Given the description of an element on the screen output the (x, y) to click on. 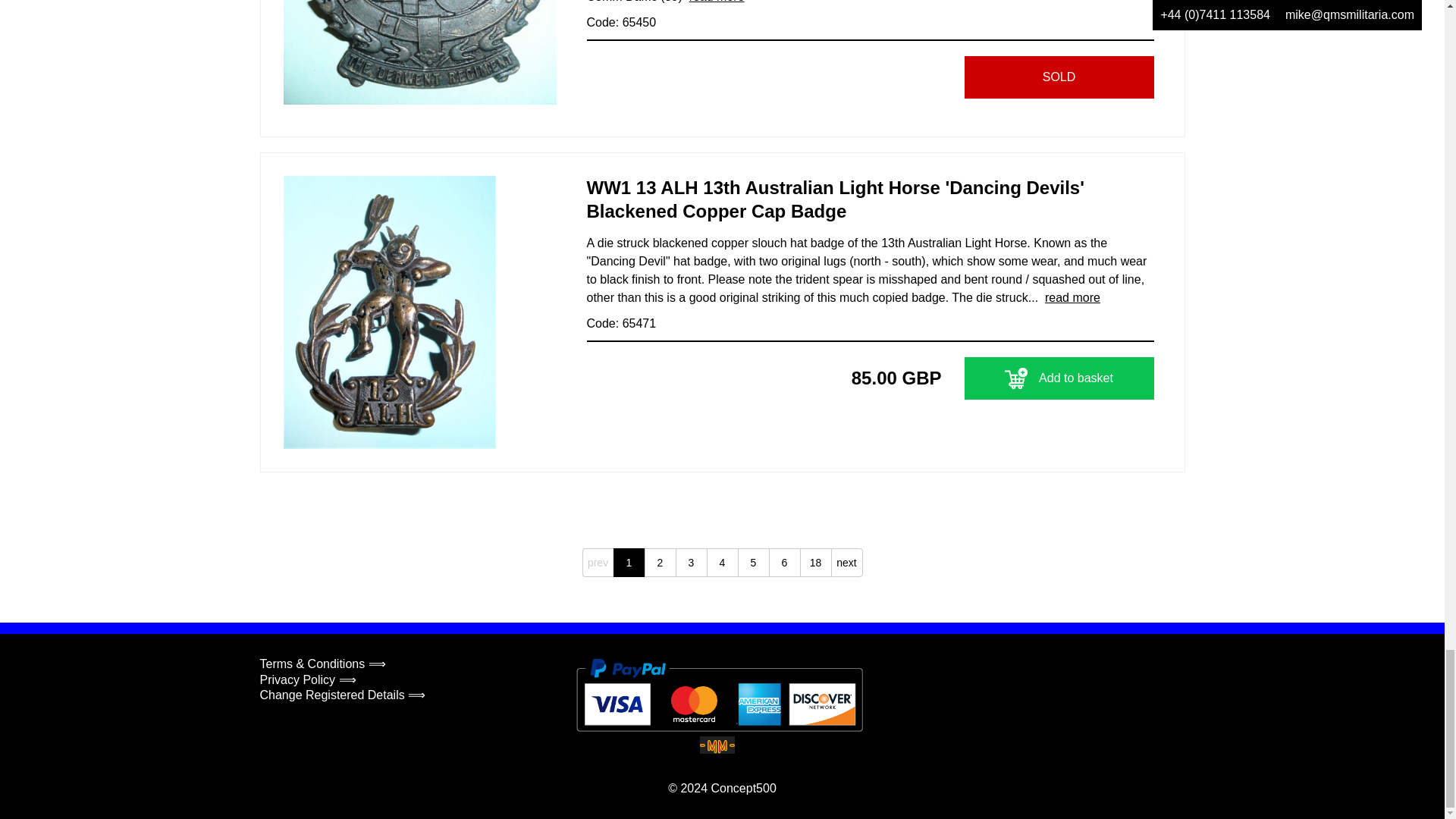
Paypal (719, 695)
add to basket (1015, 377)
